Given the description of an element on the screen output the (x, y) to click on. 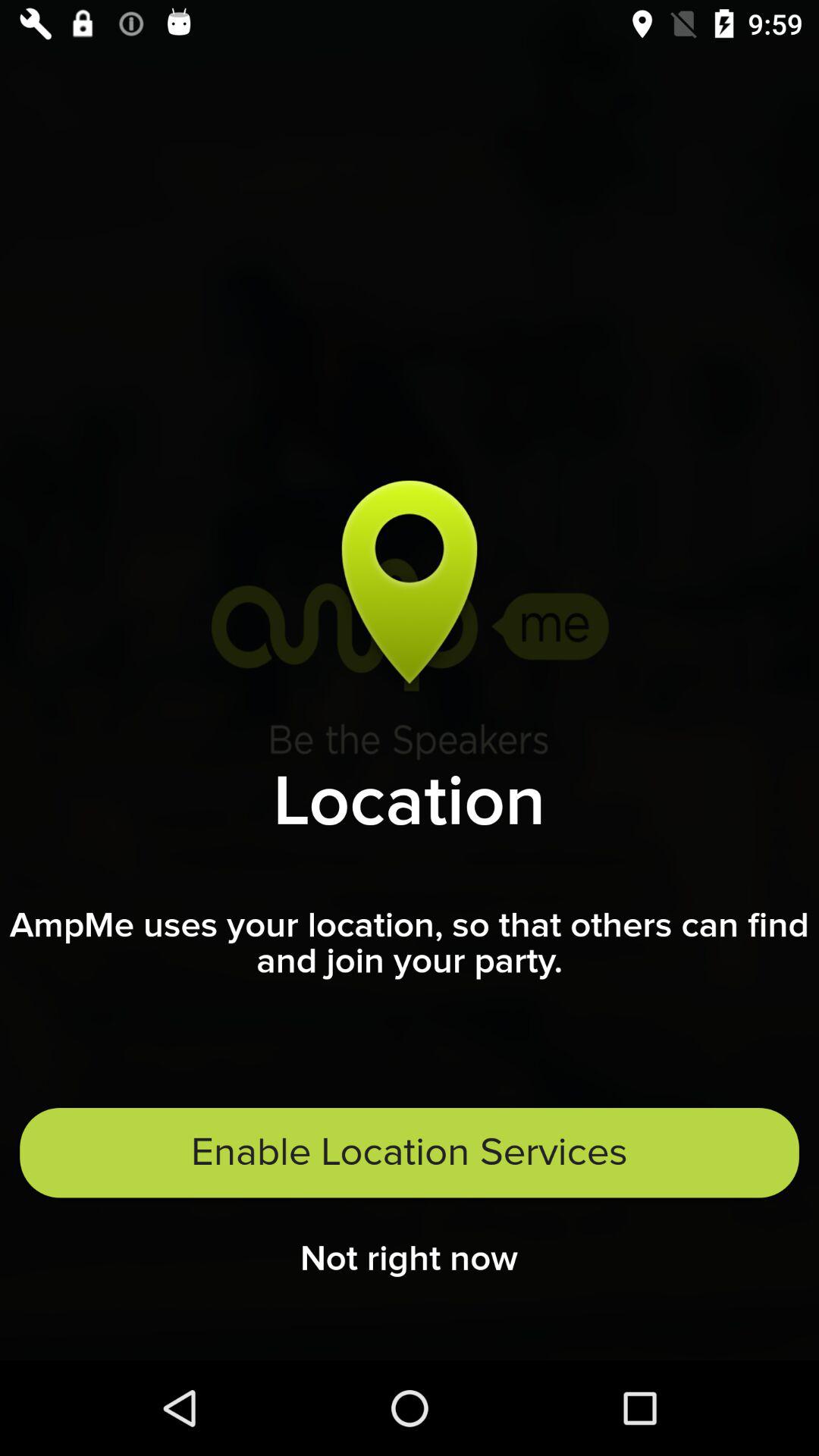
choose icon below enable location services (408, 1263)
